Given the description of an element on the screen output the (x, y) to click on. 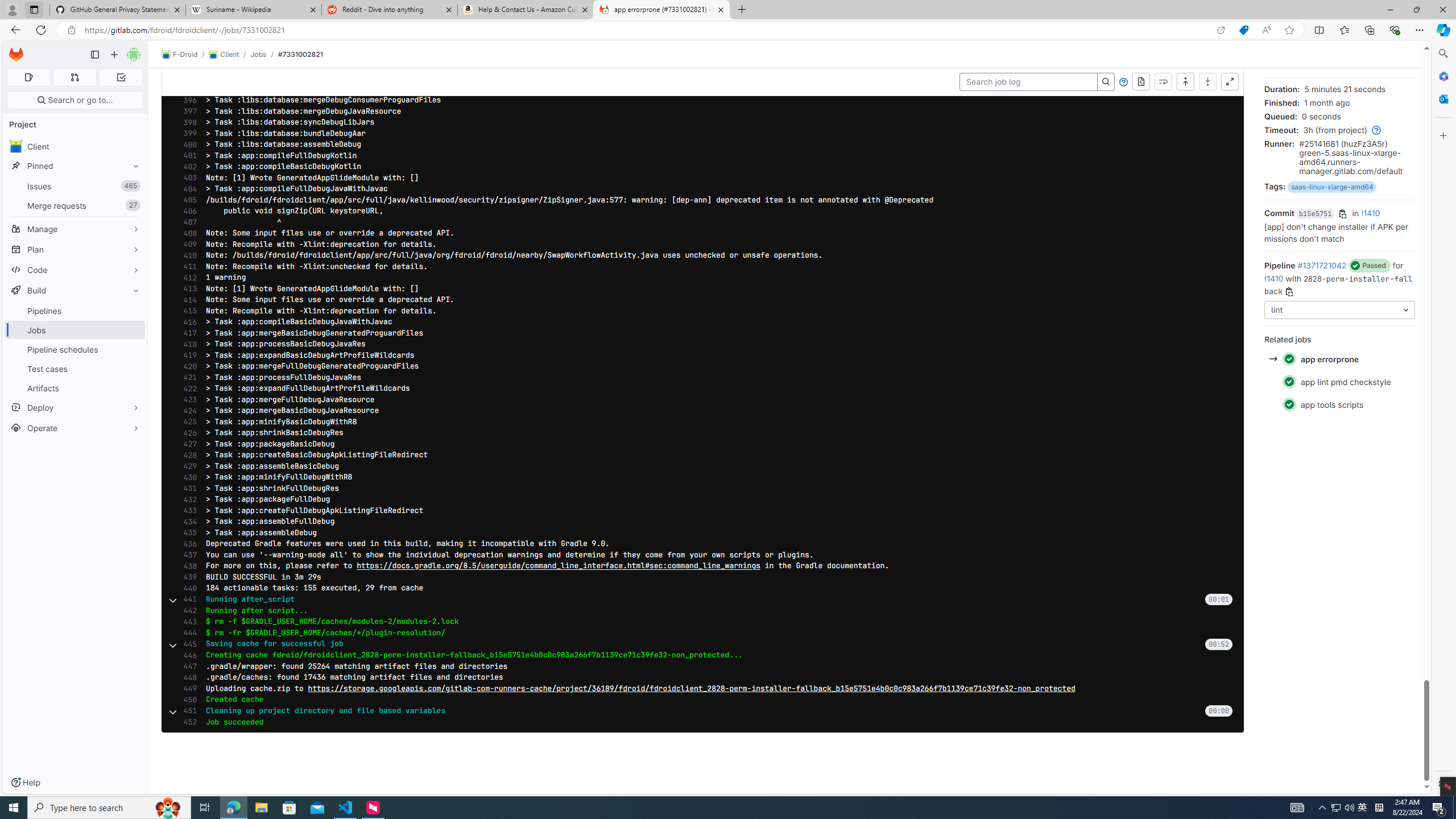
Issues465 (74, 185)
394 (186, 78)
420 (186, 366)
Suriname - Wikipedia (253, 9)
Pipelines (74, 310)
429 (186, 465)
Pipeline schedules (74, 348)
419 (186, 355)
397 (186, 111)
405 (186, 199)
415 (186, 310)
447 (186, 666)
avatar Client (74, 145)
